Given the description of an element on the screen output the (x, y) to click on. 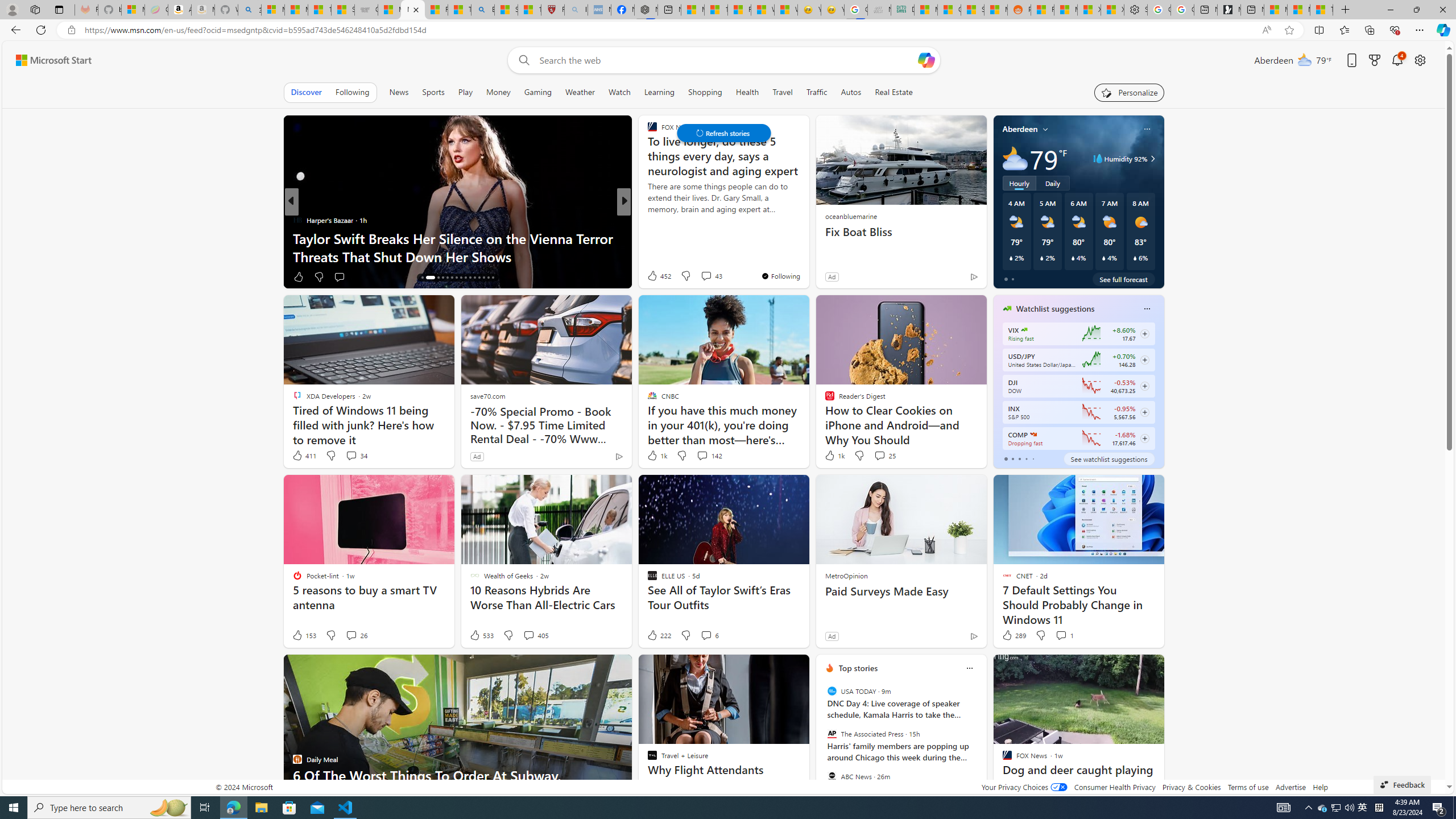
View comments 142 Comment (701, 455)
View comments 405 Comment (535, 634)
237 Like (654, 276)
View comments 496 Comment (705, 276)
View comments 26 Comment (355, 634)
View comments 34 Comment (350, 455)
View comments 89 Comment (707, 276)
Terms of use (1247, 786)
tab-0 (1005, 458)
